Given the description of an element on the screen output the (x, y) to click on. 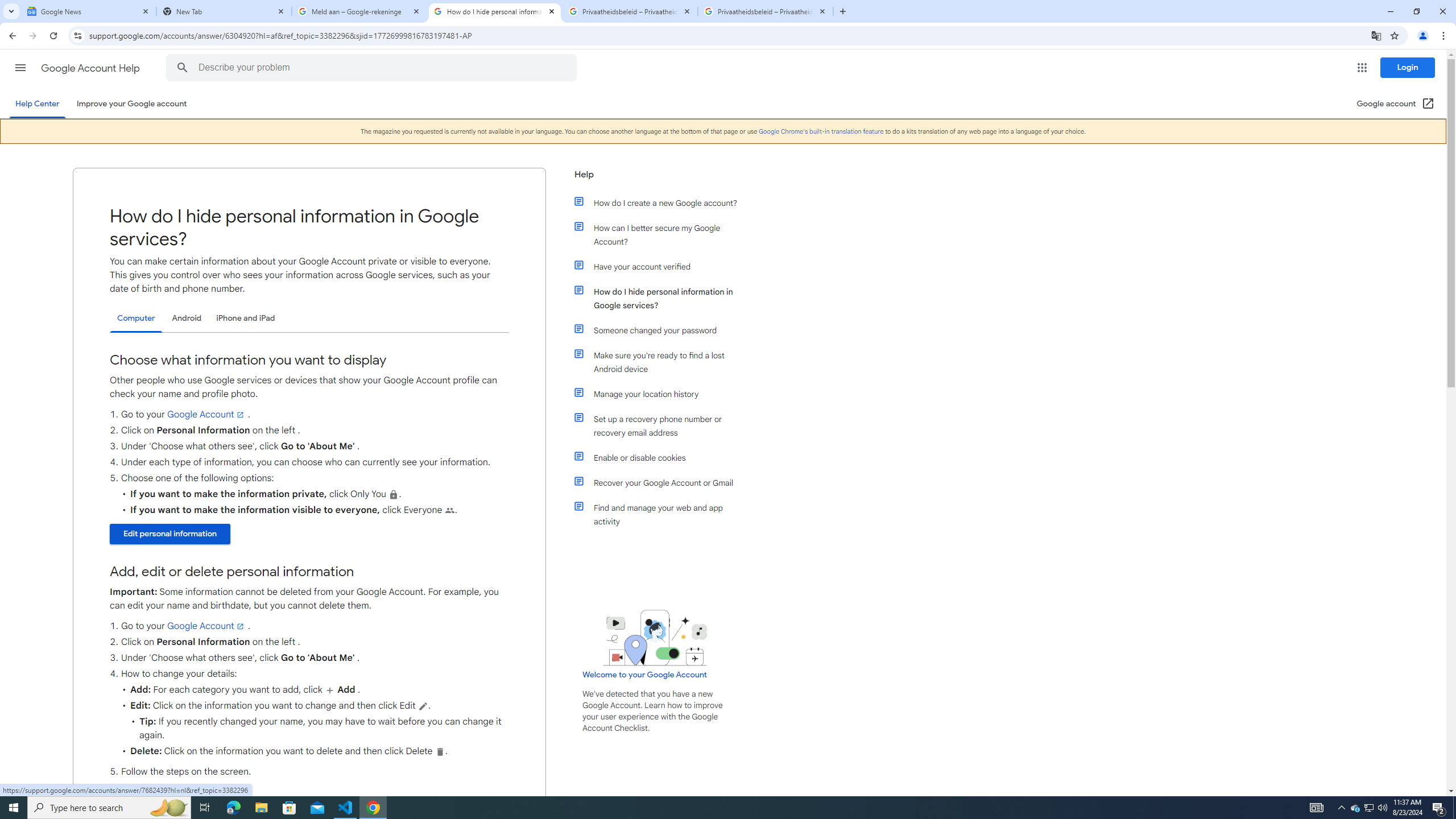
Android (186, 317)
iPhone and iPad (245, 317)
Google Account (206, 626)
Welcome to your Google Account (644, 674)
Improve your Google account (131, 103)
How do I create a new Google account? (661, 202)
Edit personal information (169, 795)
